Given the description of an element on the screen output the (x, y) to click on. 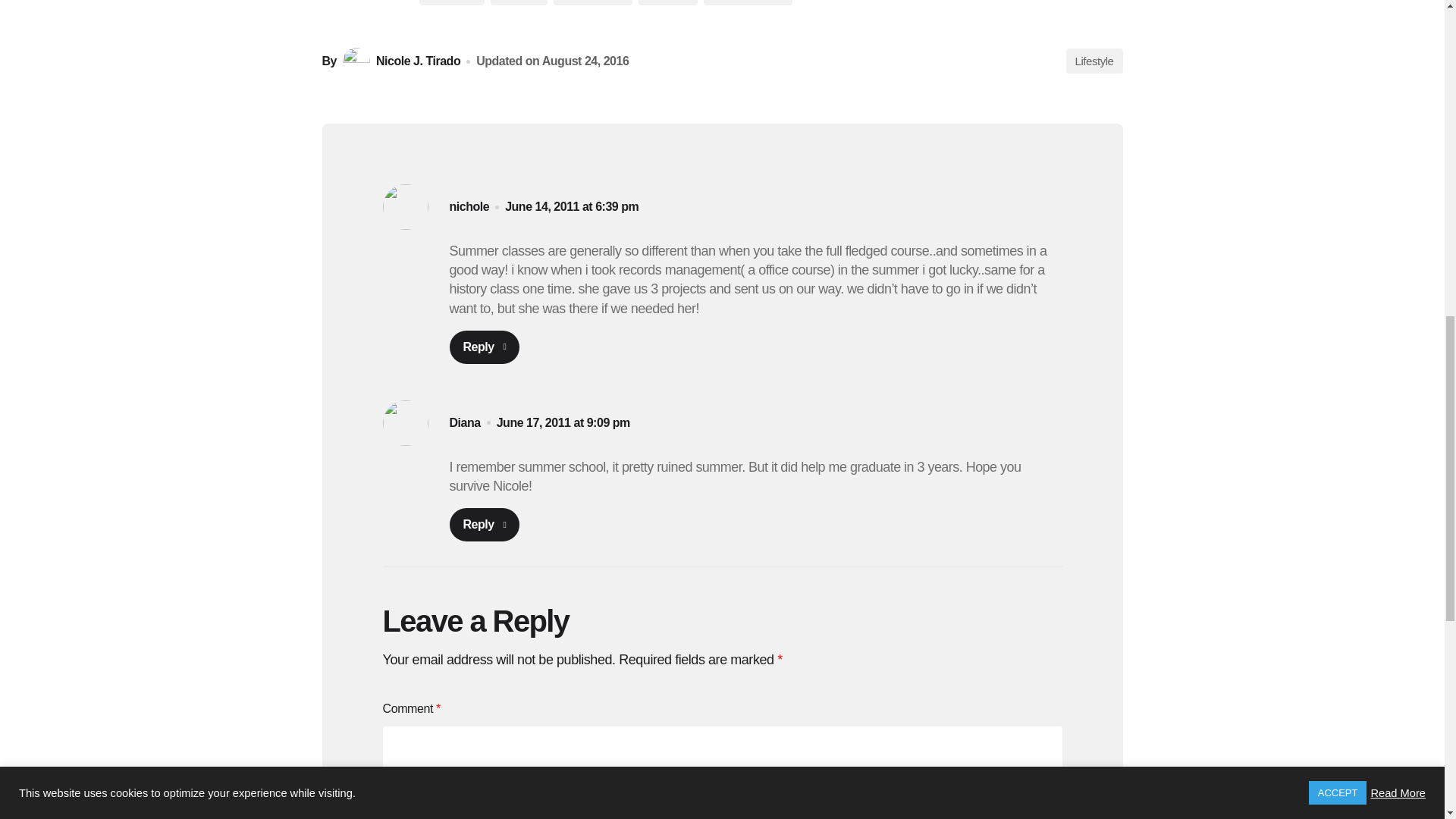
Practice (518, 2)
Summer Class (747, 2)
Summer (668, 2)
Education (451, 2)
Pre-Calculus (592, 2)
Nicole J. Tirado (399, 61)
